Given the description of an element on the screen output the (x, y) to click on. 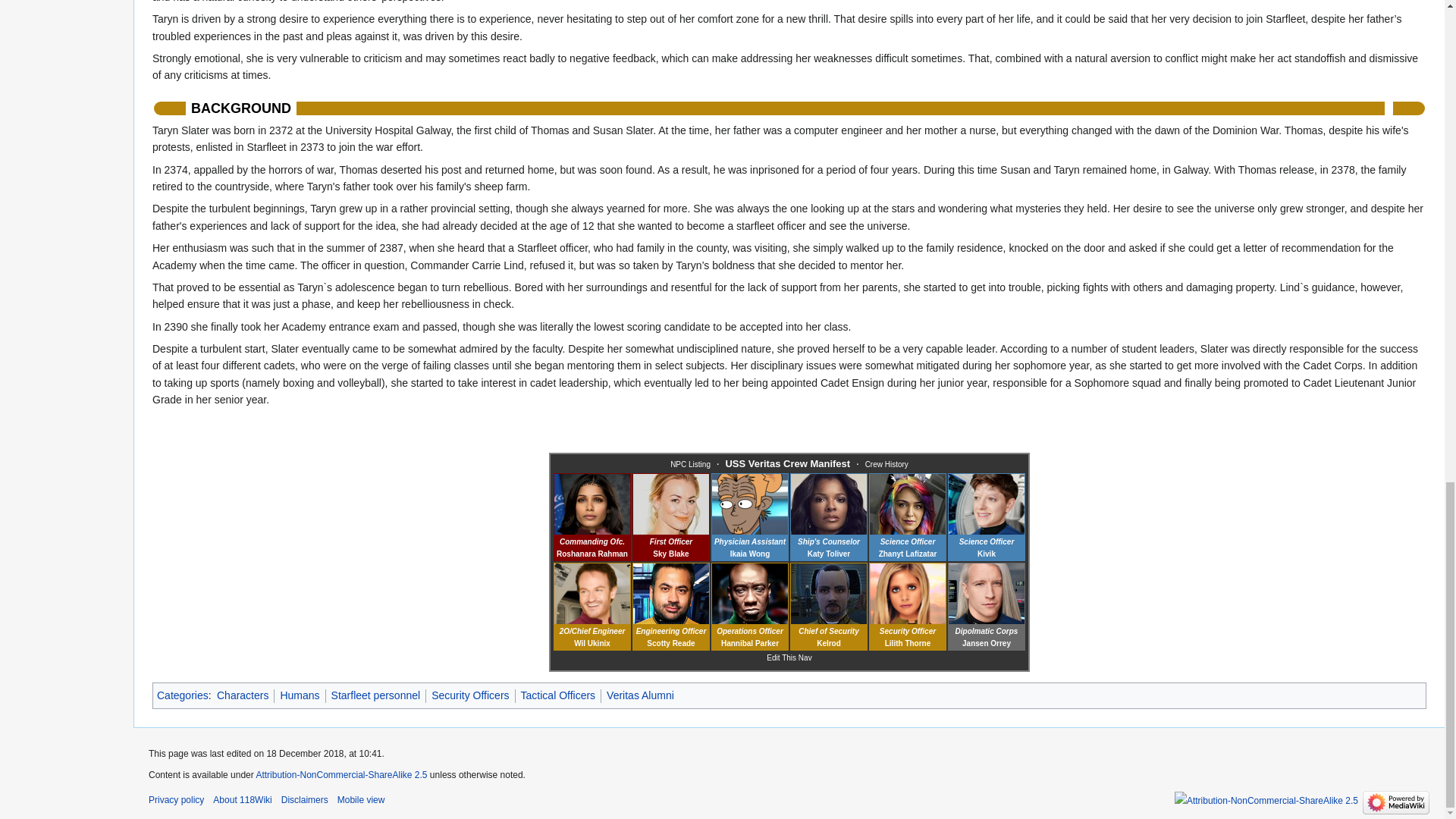
Veritas Crew History (886, 464)
USS Veritas Crew Manifest (787, 464)
NPC Listing (689, 464)
Veritas Master Crew List (787, 464)
Crew History (886, 464)
Veritas NPCs (689, 464)
Roshanara Rahman (593, 511)
Sky Blake (659, 513)
Edit This Nav (788, 657)
